Given the description of an element on the screen output the (x, y) to click on. 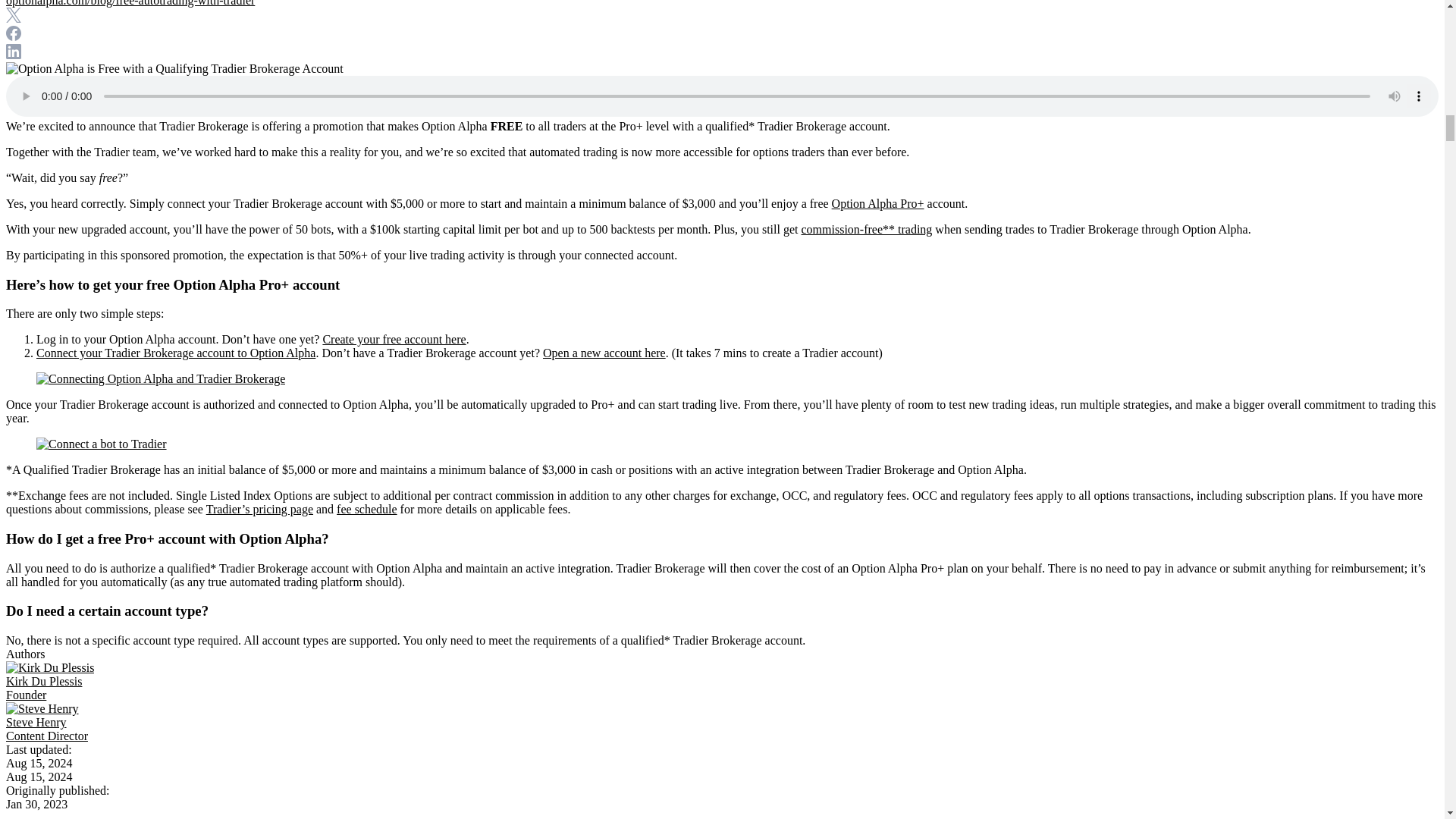
Share on Twitter (13, 18)
Create your free account here (393, 338)
Connect your Tradier Brokerage account to Option Alpha (175, 352)
Share on LinkedIn (13, 54)
Open a new account here (604, 352)
Share on Facebook (13, 36)
